Given the description of an element on the screen output the (x, y) to click on. 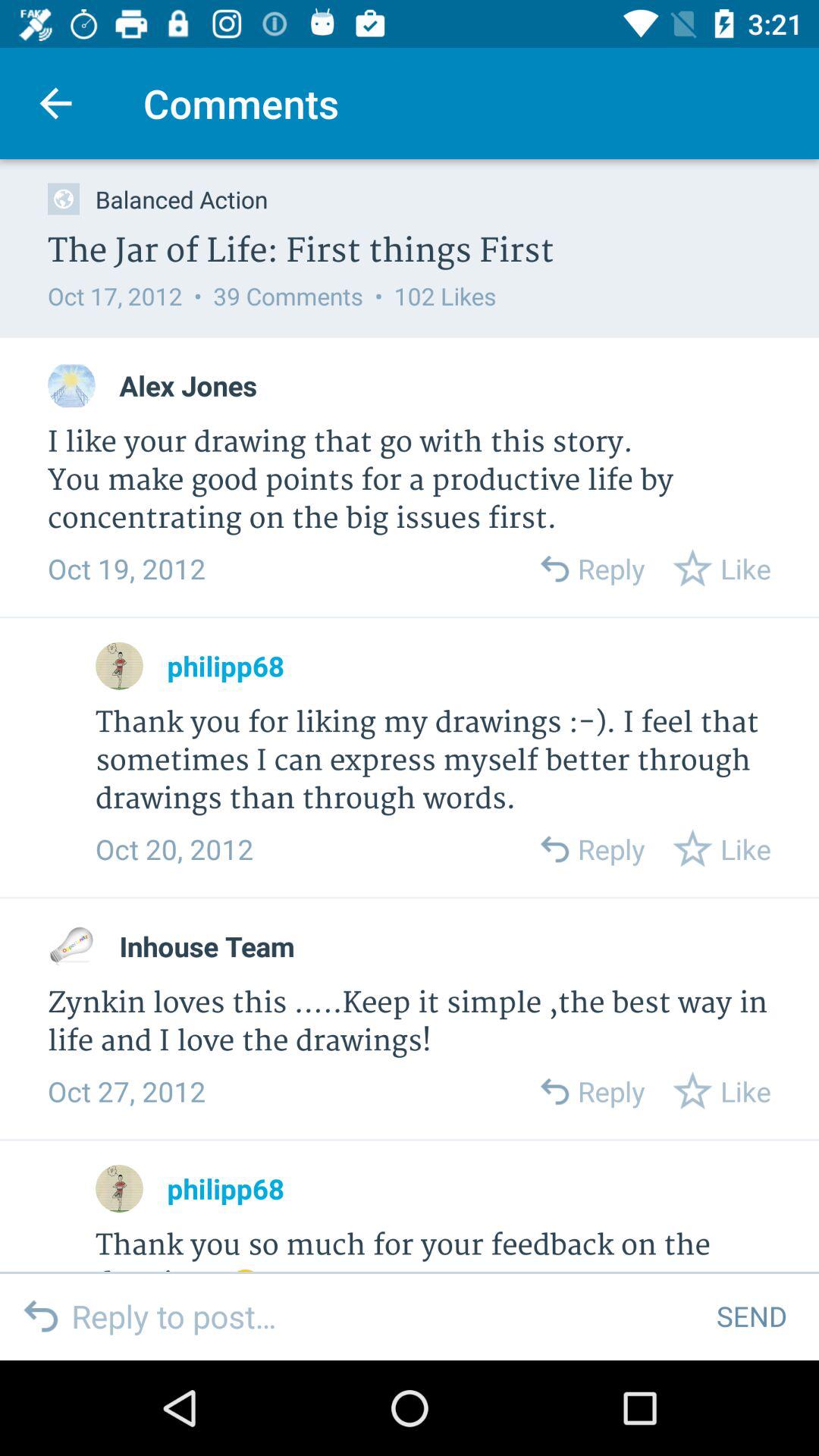
tap the item below the oct 17 2012 item (188, 385)
